Given the description of an element on the screen output the (x, y) to click on. 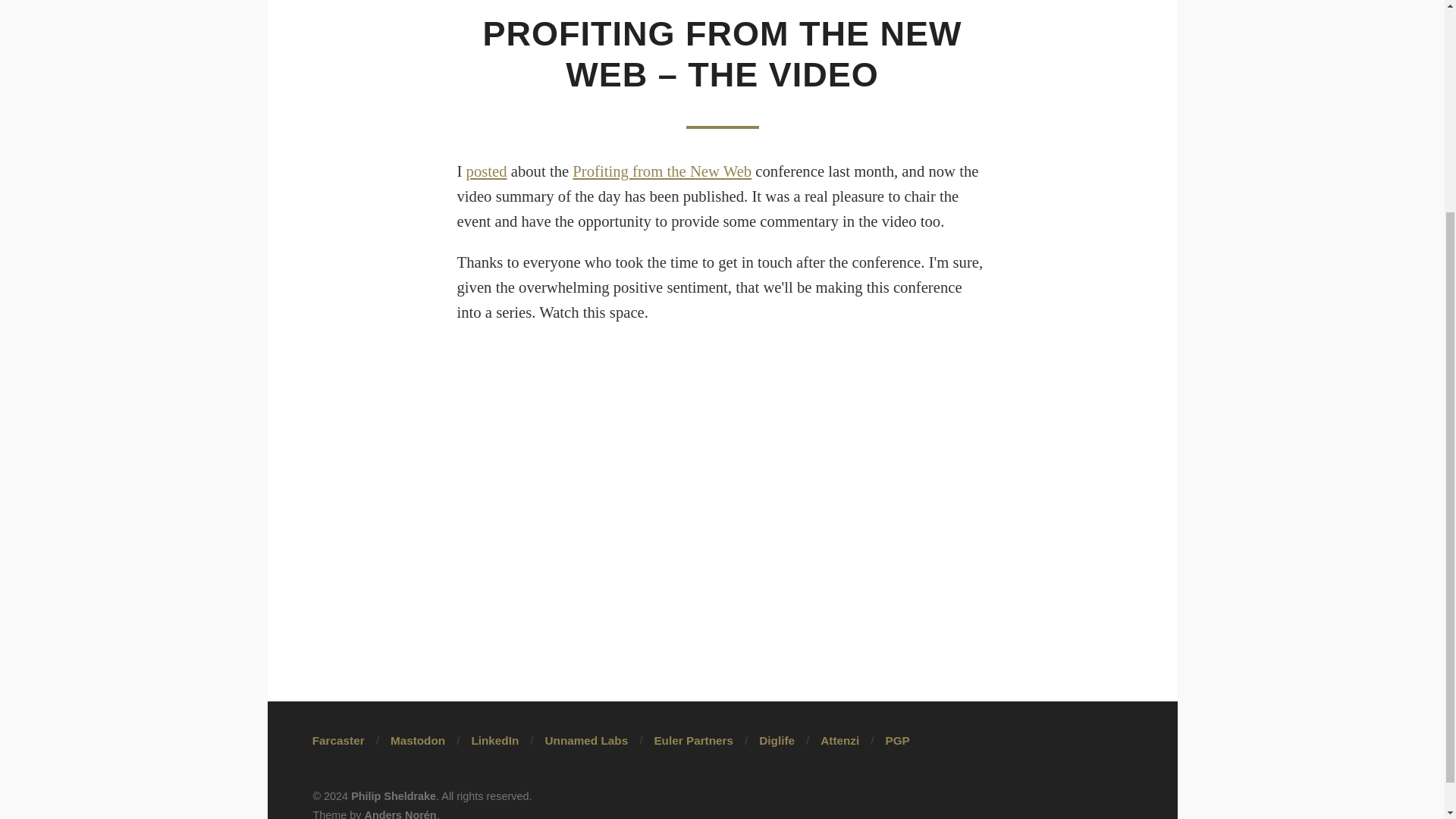
Mastodon (417, 739)
posted (485, 170)
Attenzi (840, 739)
Farcaster (339, 739)
PGP (897, 739)
LinkedIn (494, 739)
Philip Sheldrake (392, 796)
Euler Partners (693, 739)
Profiting from the New Web (661, 170)
Diglife (776, 739)
Unnamed Labs (586, 739)
